Given the description of an element on the screen output the (x, y) to click on. 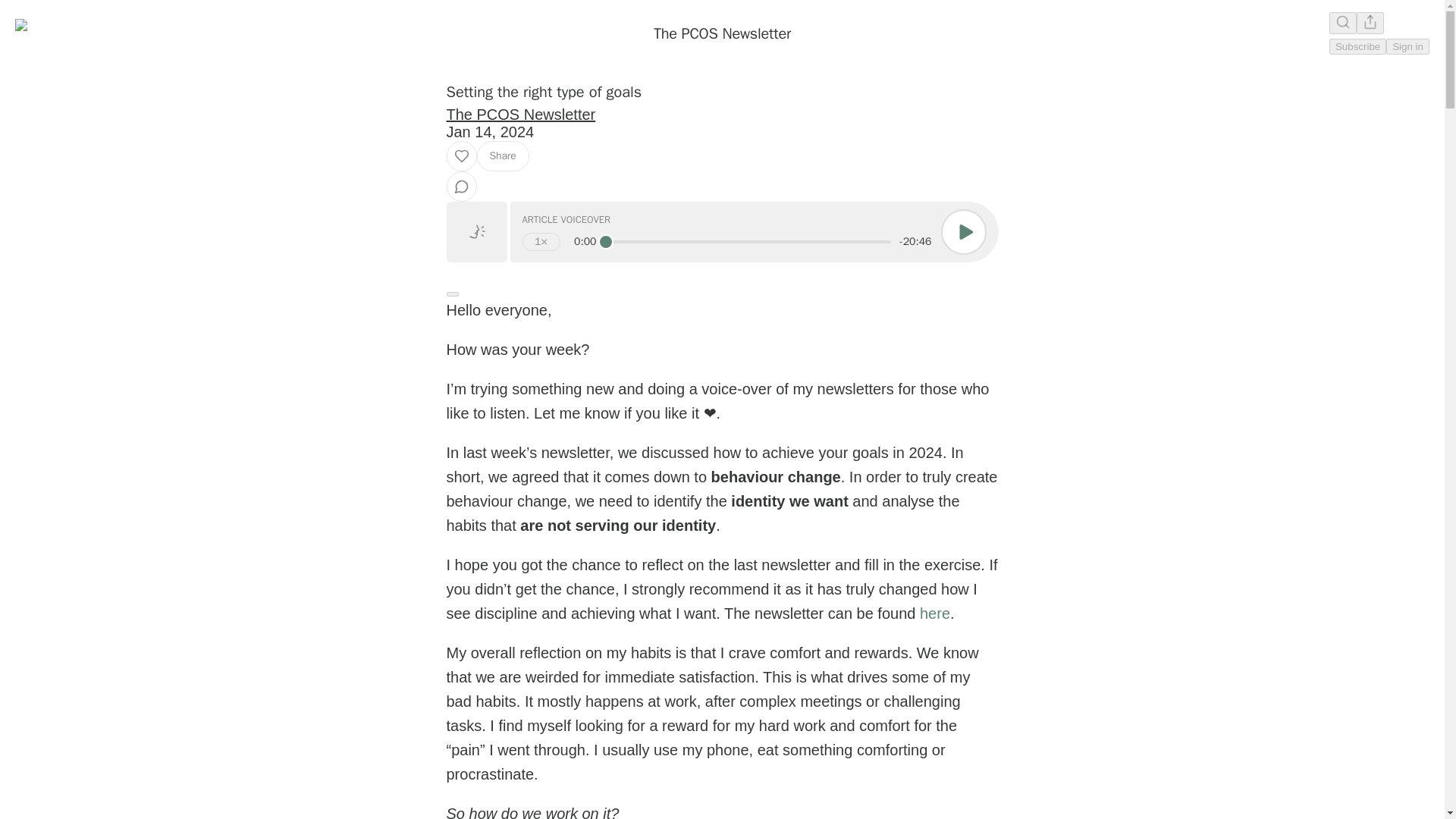
Share (502, 155)
The PCOS Newsletter (520, 114)
here (935, 613)
The PCOS Newsletter (721, 33)
Subscribe (1357, 46)
Sign in (1407, 46)
